Given the description of an element on the screen output the (x, y) to click on. 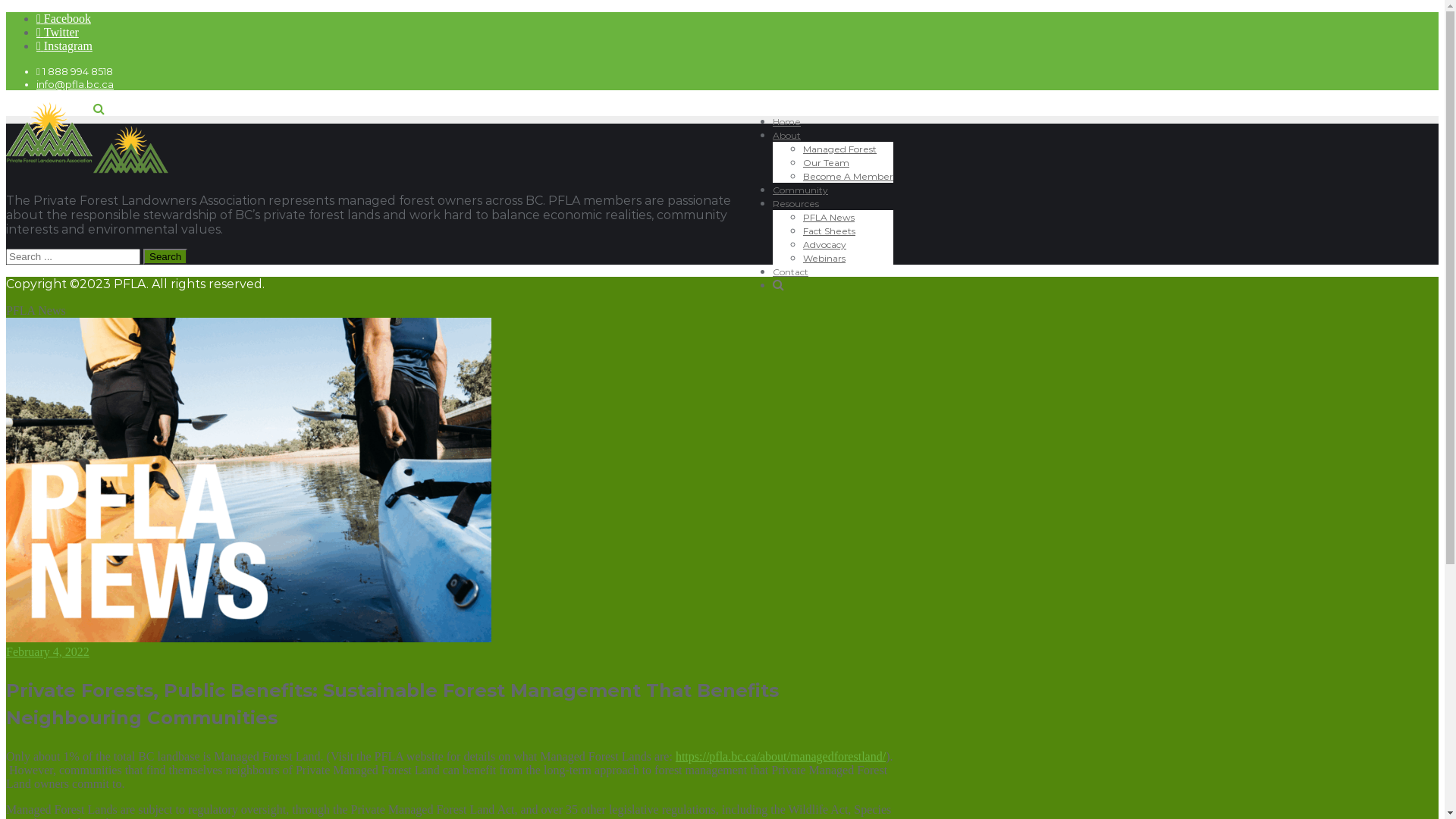
Search Element type: text (165, 256)
Community Element type: text (800, 189)
February 4, 2022 Element type: text (47, 651)
Home Element type: text (786, 121)
Advocacy Element type: text (824, 244)
Contact Element type: text (790, 271)
Fact Sheets Element type: text (829, 230)
Managed Forest Element type: text (839, 148)
Become A Member Element type: text (848, 176)
https://pfla.bc.ca/about/managedforestland/ Element type: text (780, 755)
Resources Element type: text (795, 203)
About Element type: text (786, 135)
info@pfla.bc.ca Element type: text (74, 84)
Instagram Element type: text (64, 45)
Webinars Element type: text (824, 257)
Twitter Element type: text (57, 31)
Our Team Element type: text (826, 162)
Facebook Element type: text (63, 18)
PFLA News Element type: text (828, 216)
